Given the description of an element on the screen output the (x, y) to click on. 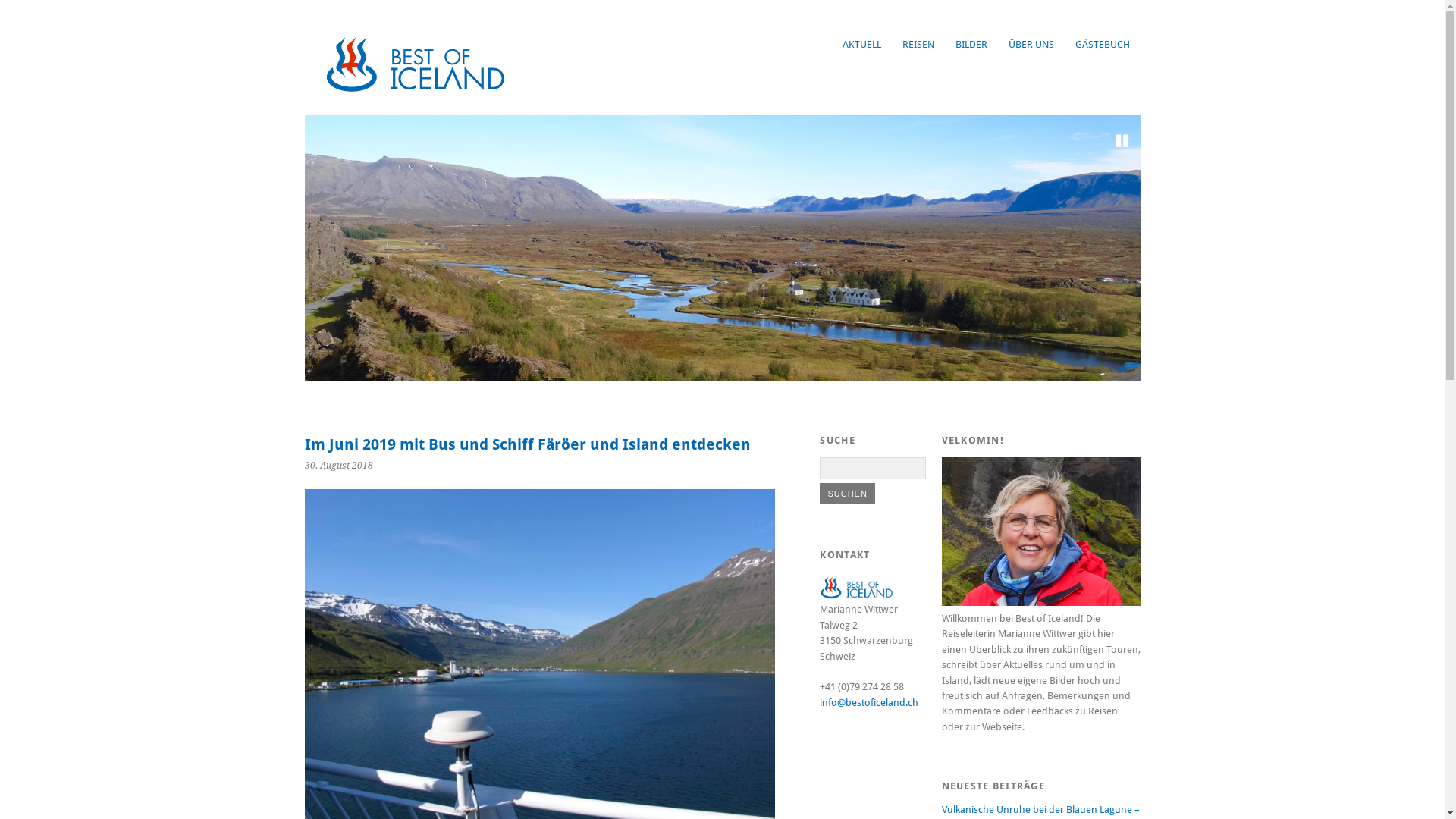
info@bestoficeland.ch Element type: text (868, 702)
BILDER Element type: text (970, 43)
Stop Element type: text (1121, 140)
AKTUELL Element type: text (861, 43)
REISEN Element type: text (917, 43)
Suchen Element type: text (846, 493)
